Given the description of an element on the screen output the (x, y) to click on. 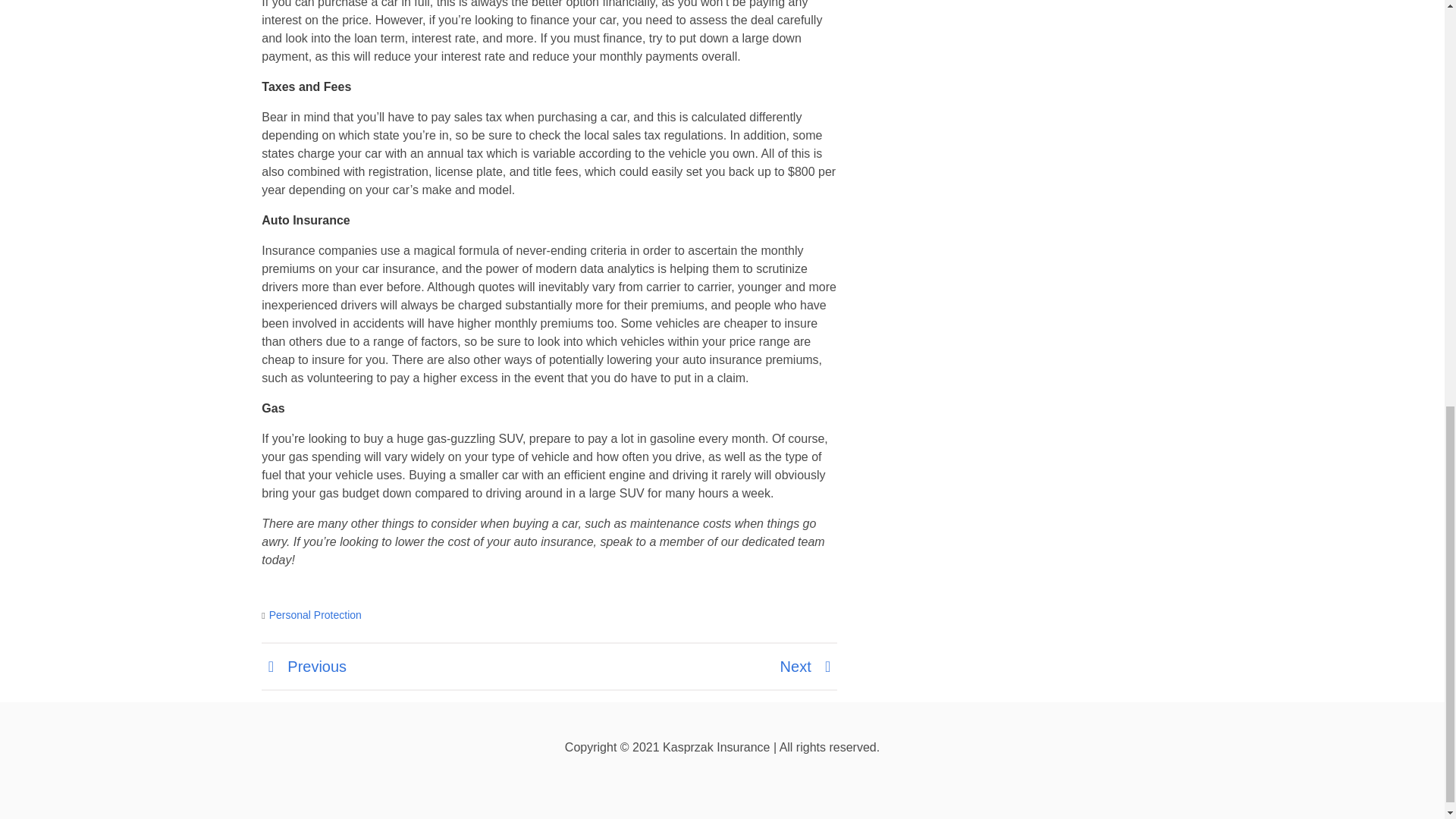
Personal Protection (315, 614)
Previous (304, 666)
